Given the description of an element on the screen output the (x, y) to click on. 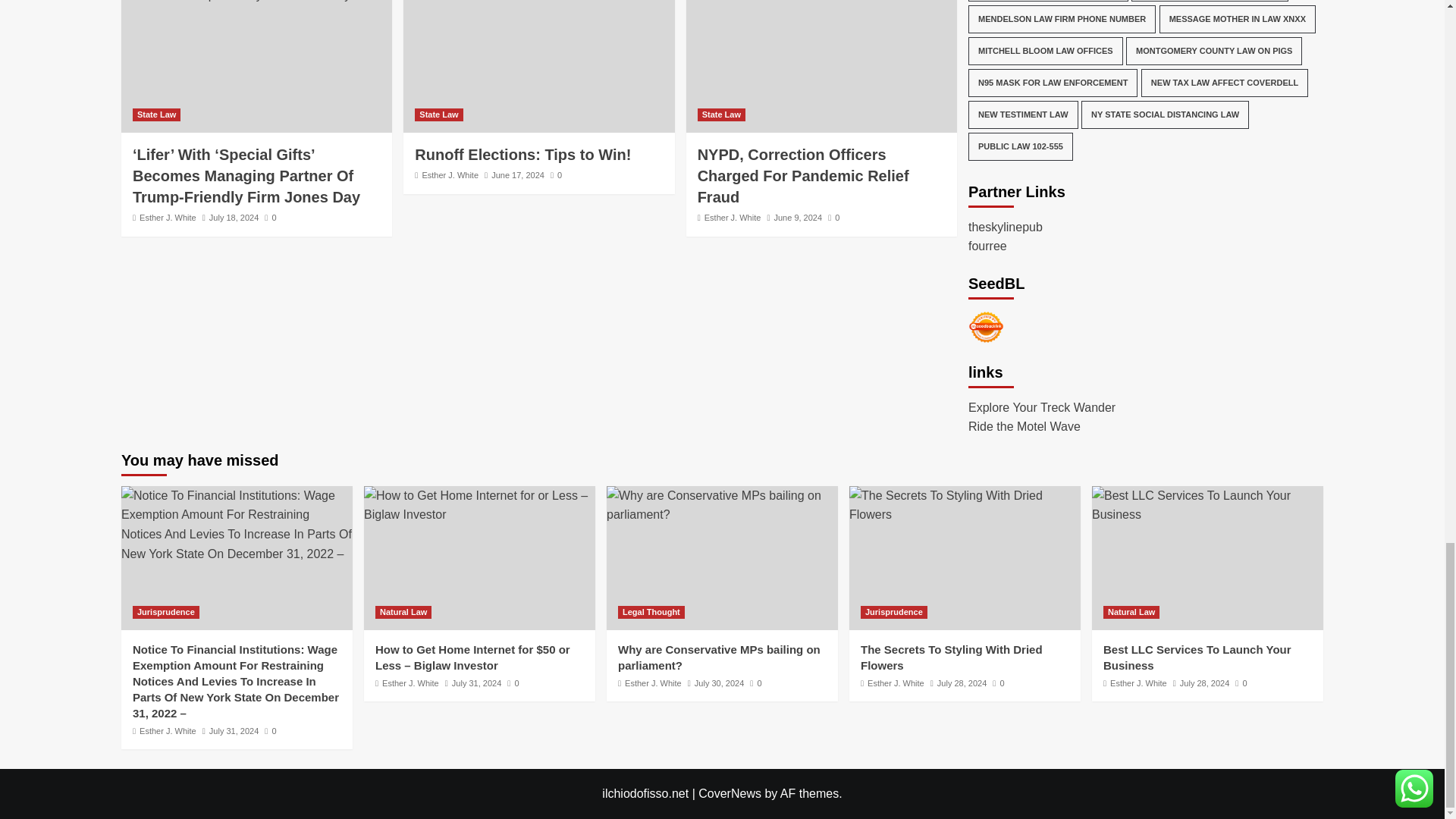
July 18, 2024 (234, 216)
State Law (156, 114)
Seedbacklink (986, 326)
NYPD, Correction Officers Charged For Pandemic Relief Fraud (820, 2)
Esther J. White (167, 216)
Why are Conservative MPs bailing on parliament? (722, 505)
